Given the description of an element on the screen output the (x, y) to click on. 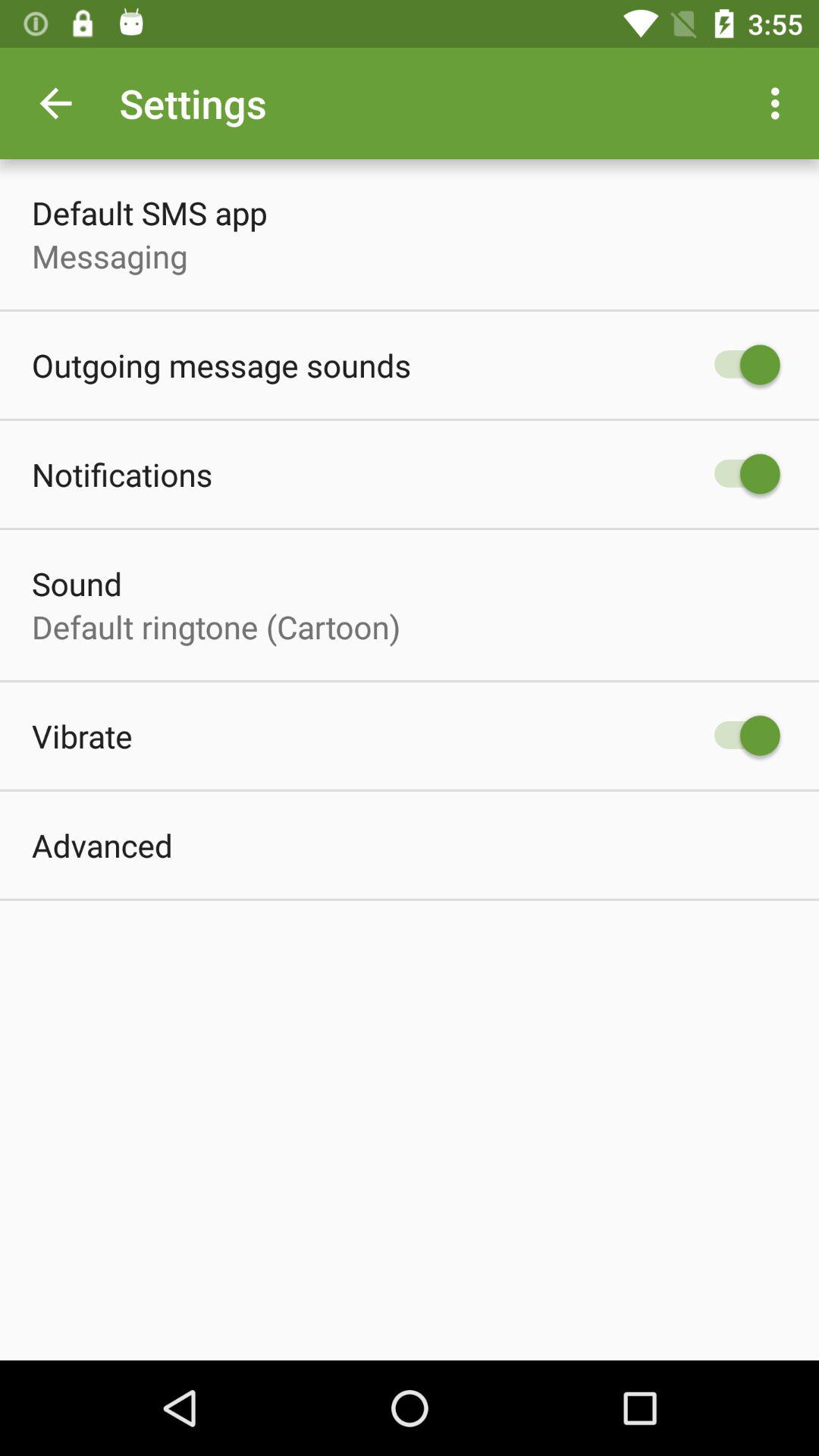
click the notifications item (121, 473)
